Given the description of an element on the screen output the (x, y) to click on. 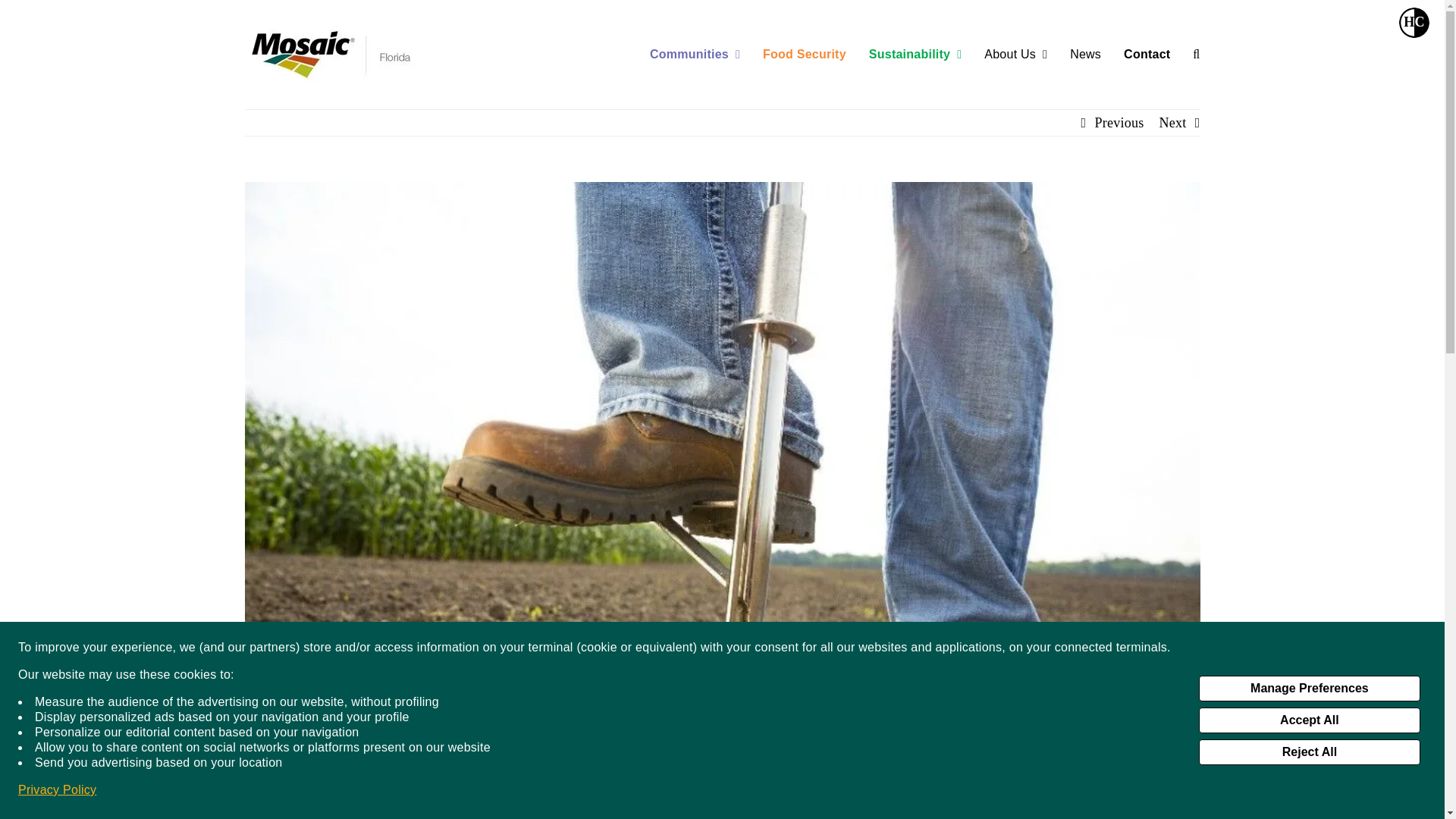
Next (1172, 122)
Communities (694, 54)
Privacy Policy (56, 789)
Sustainability (914, 54)
Manage Preferences (1309, 688)
Reject All (1309, 751)
Food Security (803, 54)
Accept All (1309, 720)
World Fertilizer Day is Friday, Oct. 13.  (1414, 22)
